Given the description of an element on the screen output the (x, y) to click on. 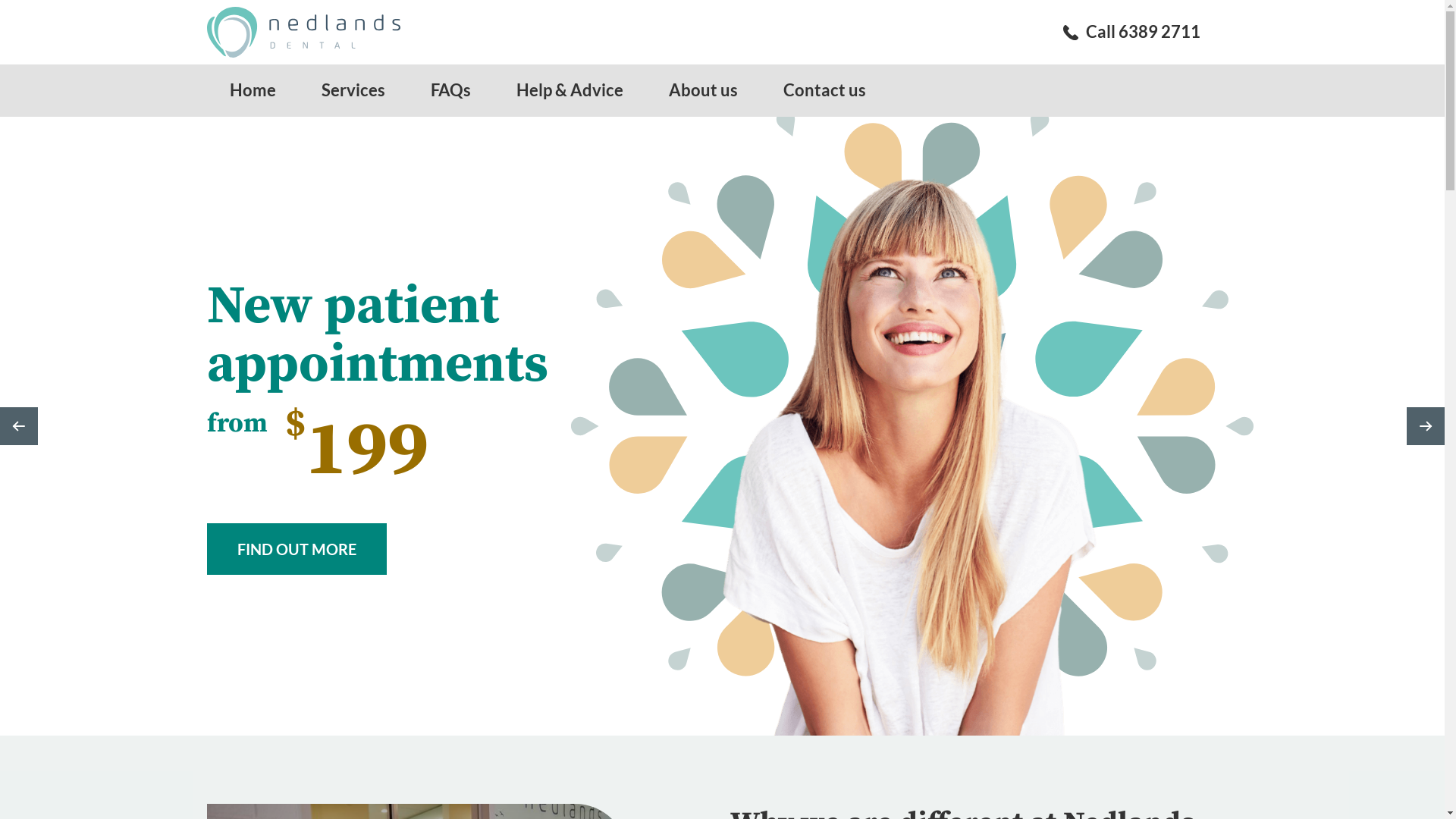
Previous Element type: text (18, 426)
Home Element type: text (252, 90)
Contact us Element type: text (823, 90)
FAQs Element type: text (450, 90)
Next Element type: text (1425, 426)
About us Element type: text (703, 90)
Services Element type: text (352, 90)
Call 6389 2711 Element type: text (1131, 32)
FIND OUT MORE Element type: text (295, 549)
Help & Advice Element type: text (568, 90)
